Given the description of an element on the screen output the (x, y) to click on. 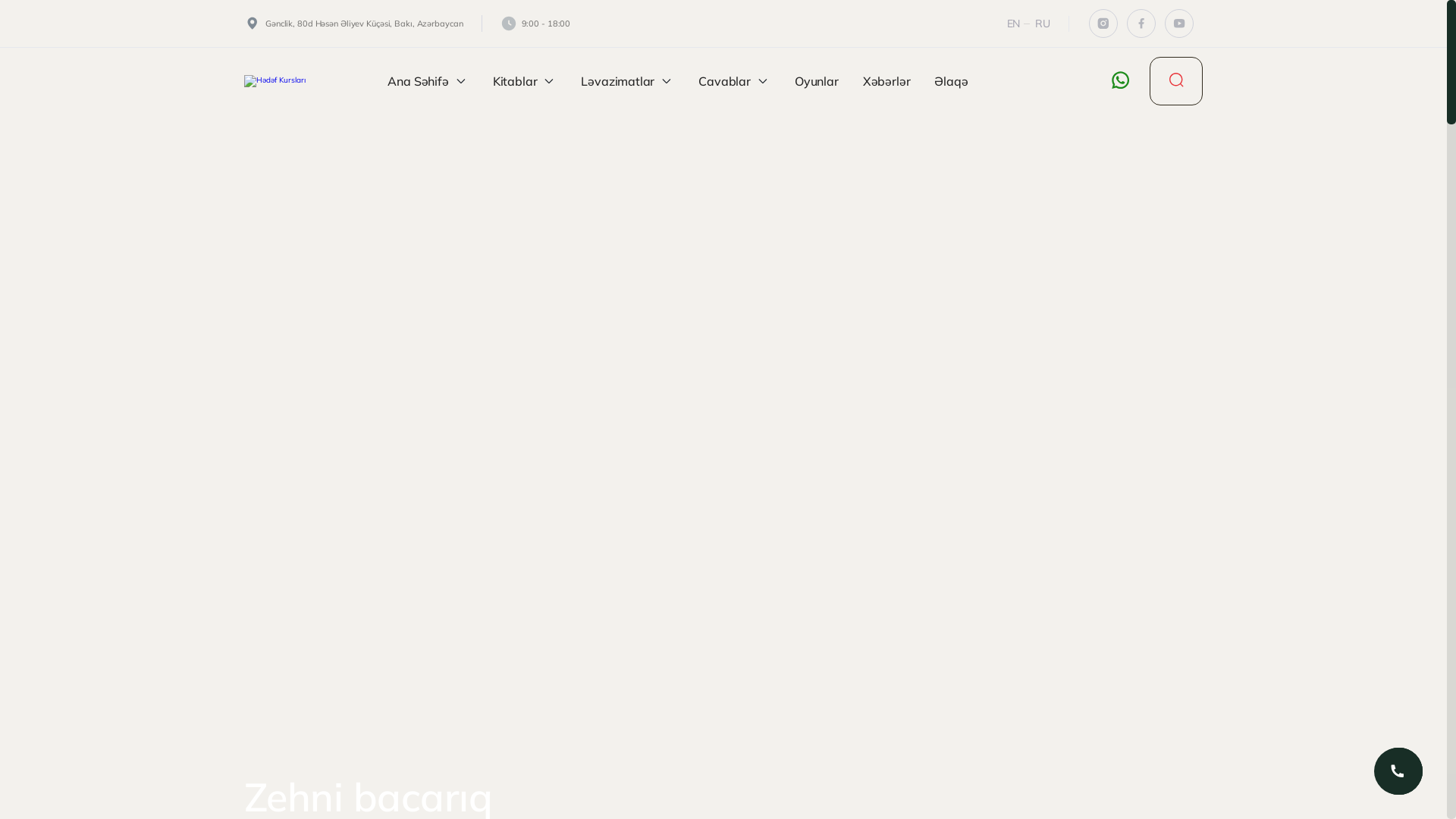
Cavablar Element type: text (734, 80)
Oyunlar Element type: text (816, 80)
EN Element type: text (1017, 23)
RU Element type: text (1042, 23)
Kitablar Element type: text (524, 80)
